Given the description of an element on the screen output the (x, y) to click on. 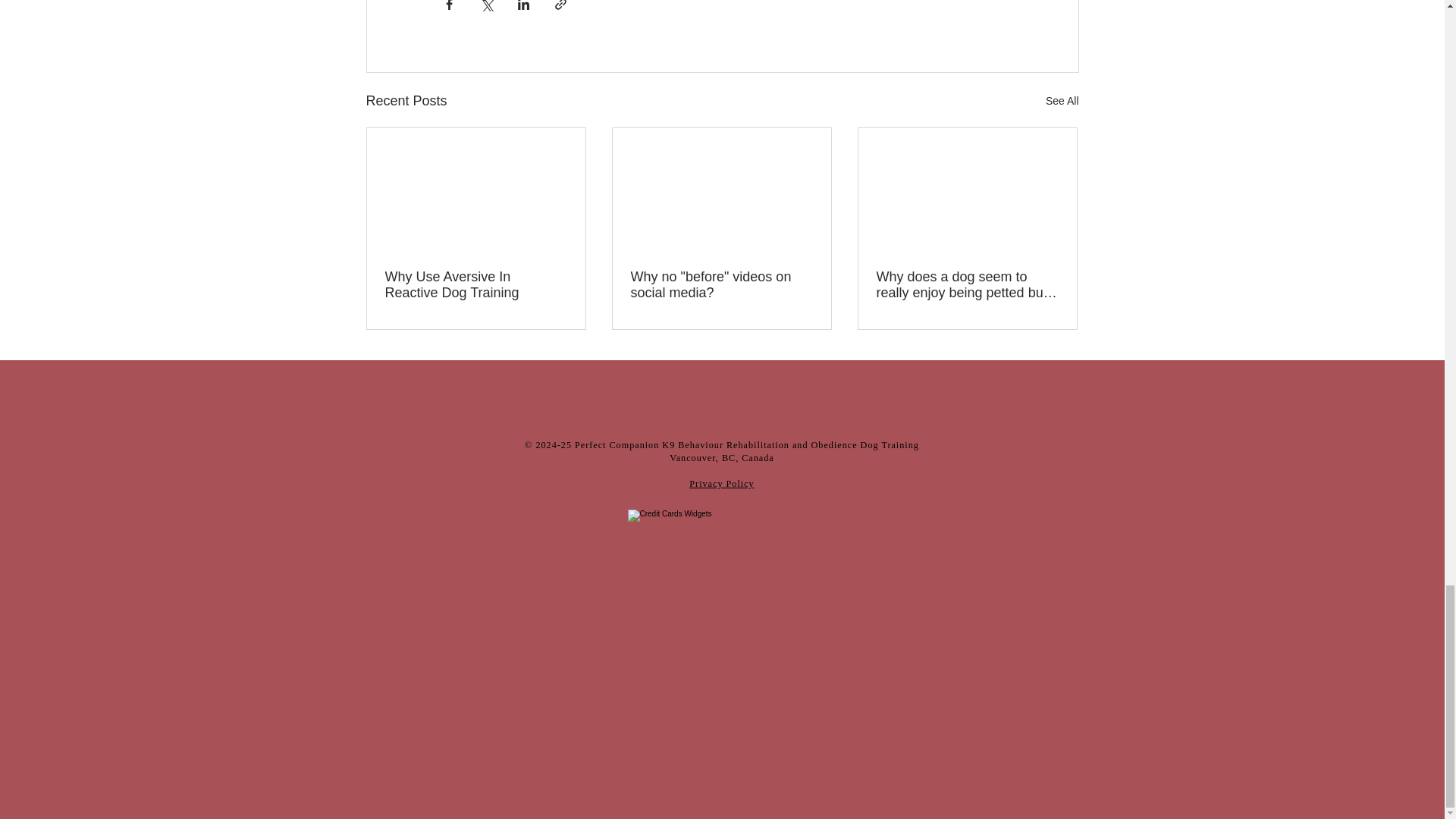
Why no "before" videos on social media? (721, 285)
Why Use Aversive In Reactive Dog Training (476, 285)
See All (1061, 101)
Privacy Policy (721, 482)
